Given the description of an element on the screen output the (x, y) to click on. 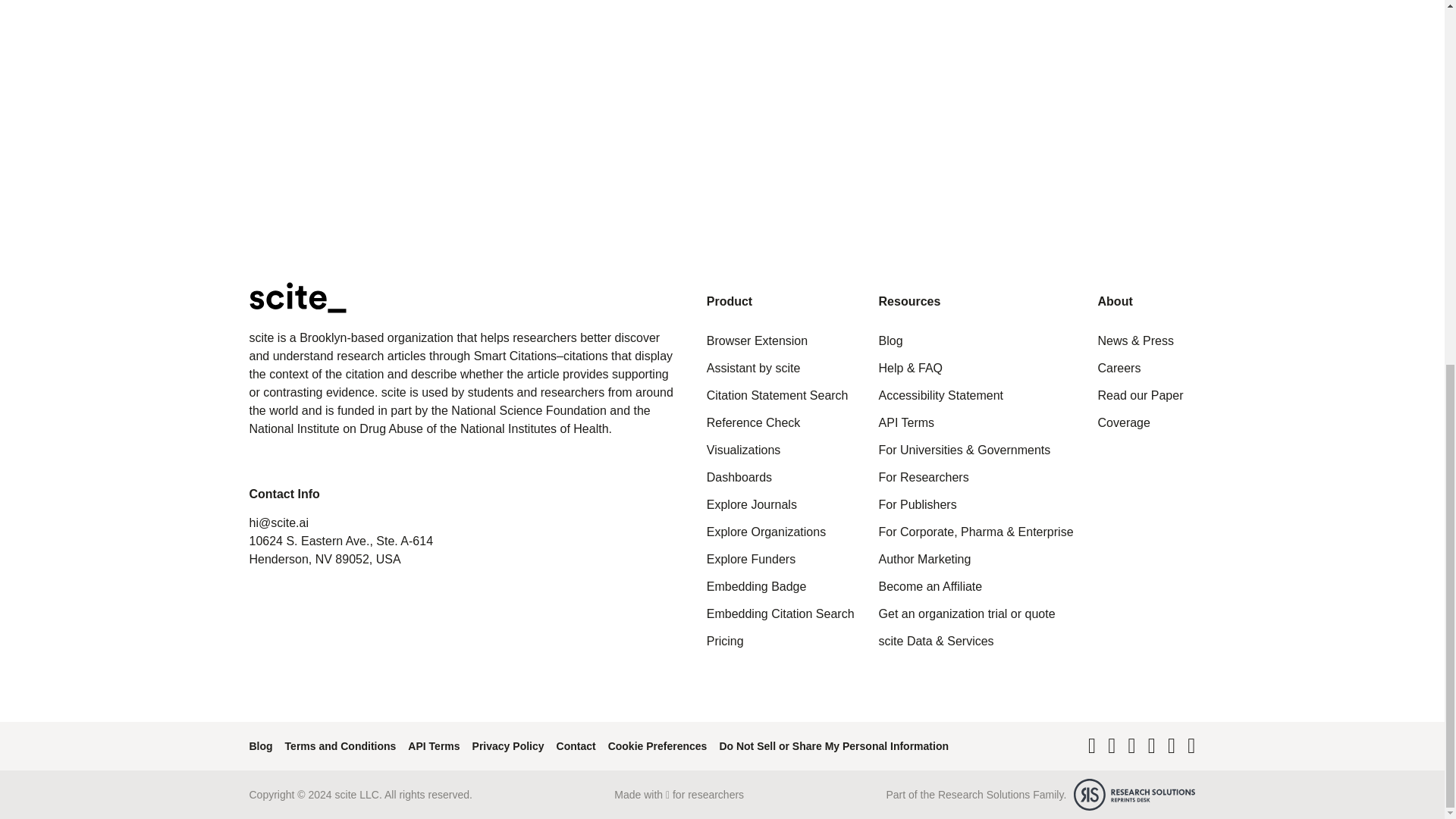
Assistant by scite (753, 368)
Reference Check (753, 422)
Browser Extension (757, 340)
Citation Statement Search (777, 395)
Visualizations (743, 450)
Explore Journals (751, 504)
Dashboards (738, 477)
